Given the description of an element on the screen output the (x, y) to click on. 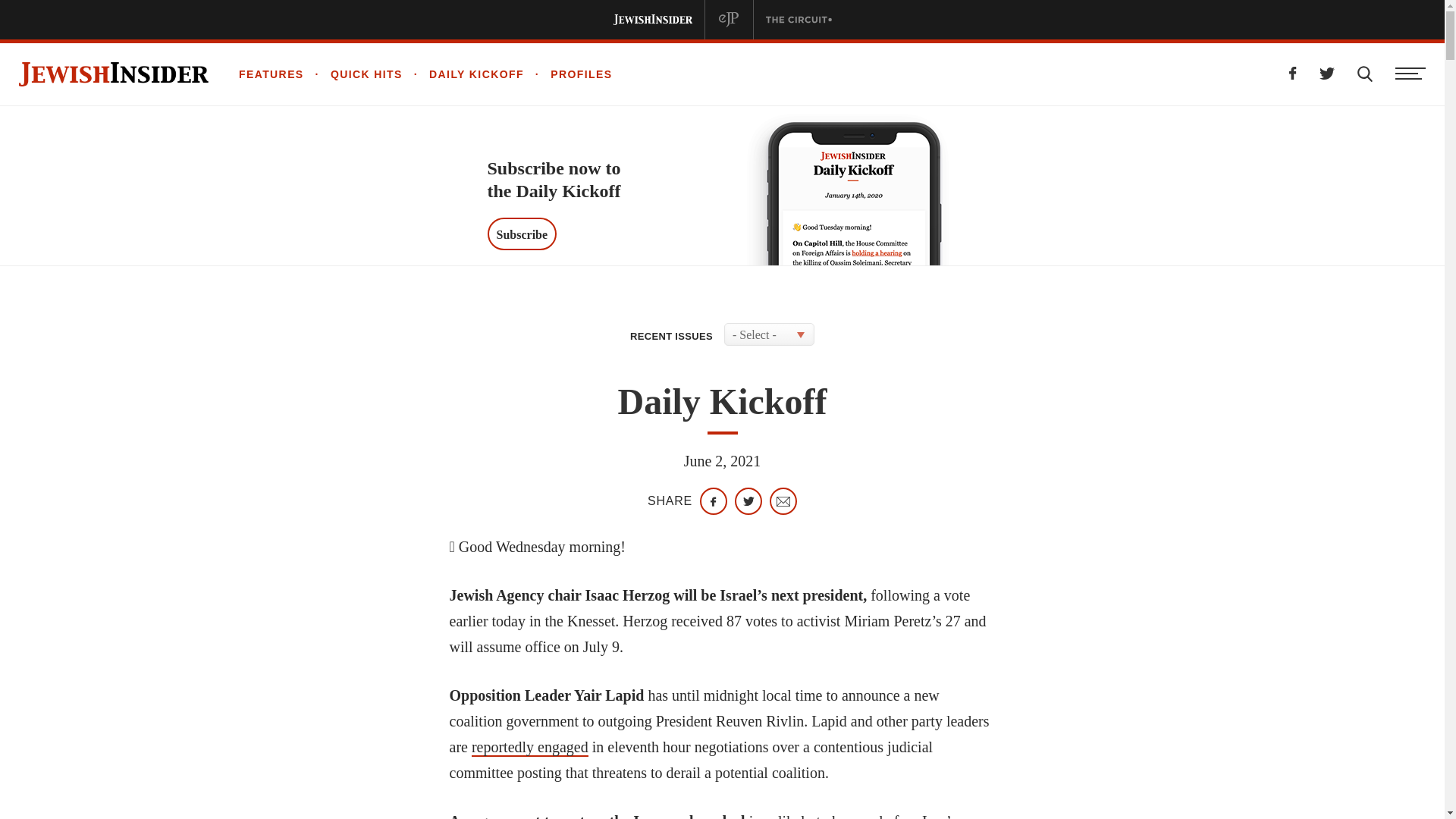
Subscribe (521, 233)
DAILY KICKOFF (463, 73)
FEATURES (271, 73)
unlikely to happen (819, 816)
PROFILES (568, 73)
reportedly engaged (529, 747)
QUICK HITS (353, 73)
